Given the description of an element on the screen output the (x, y) to click on. 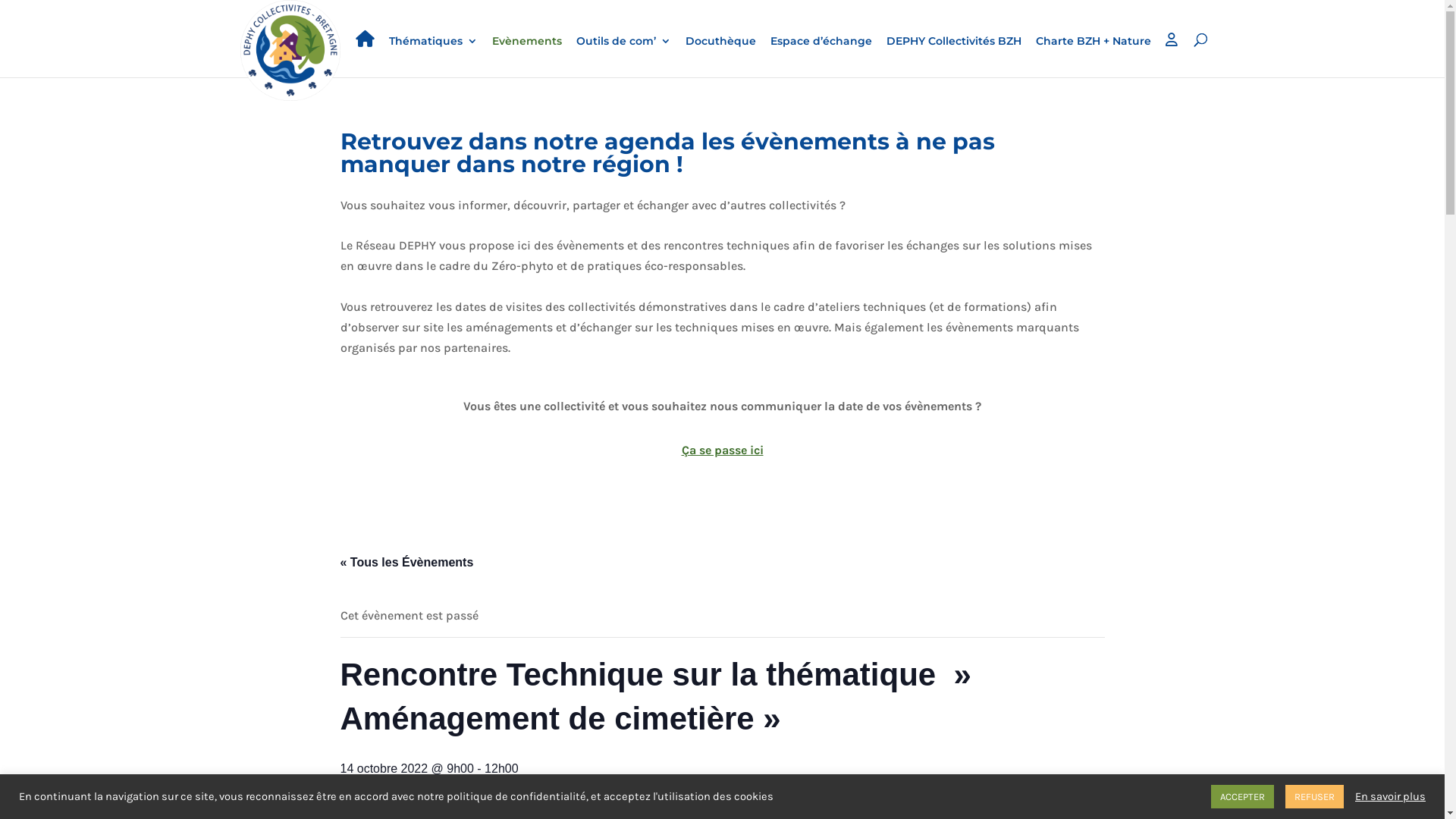
ACCEPTER Element type: text (1242, 796)
En savoir plus Element type: text (1390, 796)
REFUSER Element type: text (1314, 796)
Charte BZH + Nature Element type: text (1093, 55)
